Given the description of an element on the screen output the (x, y) to click on. 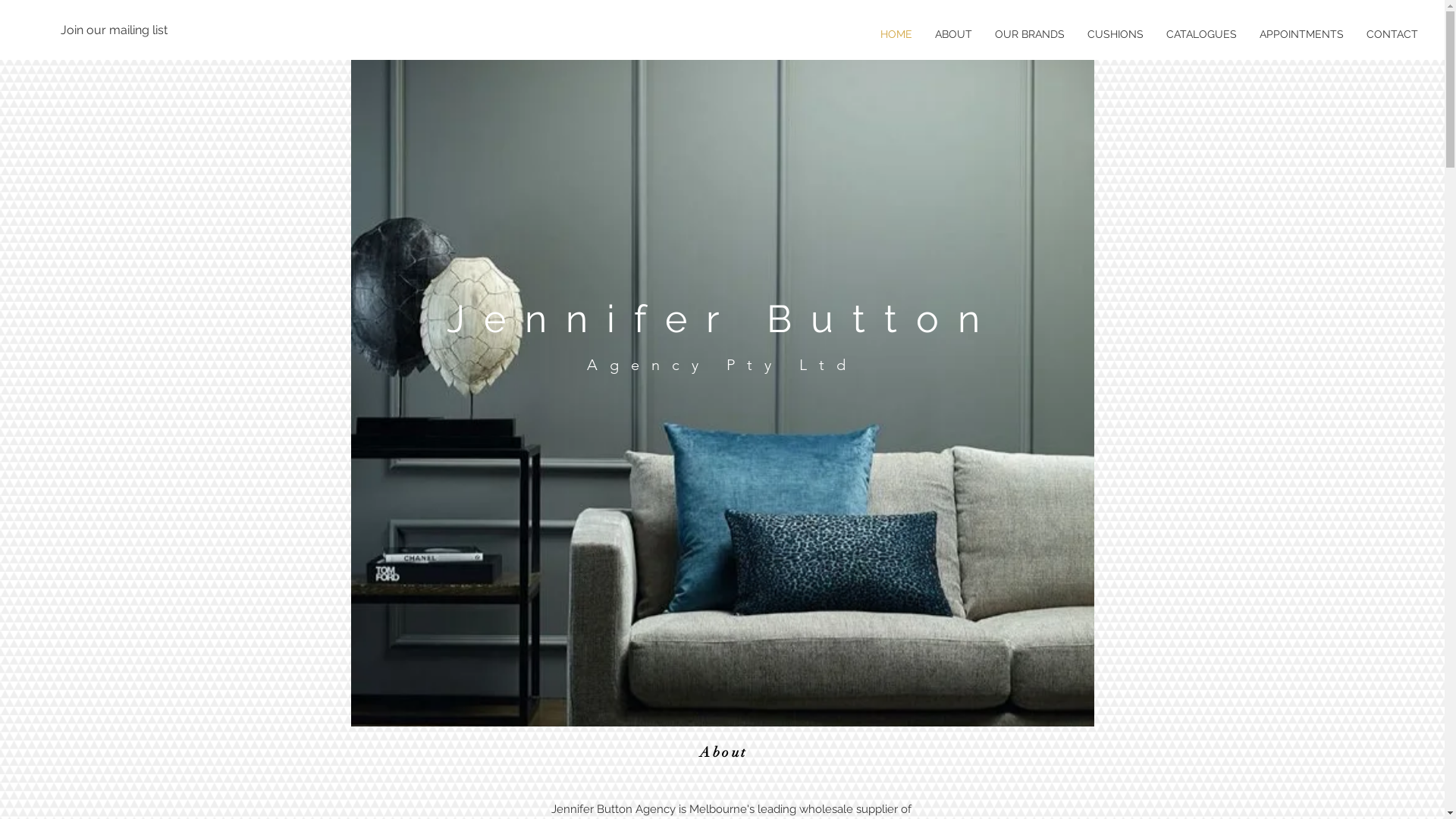
CUSHIONS Element type: text (1115, 34)
Join our mailing list Element type: text (114, 30)
HOME Element type: text (896, 34)
APPOINTMENTS Element type: text (1301, 34)
ABOUT Element type: text (953, 34)
OUR BRANDS Element type: text (1029, 34)
CATALOGUES Element type: text (1201, 34)
CONTACT Element type: text (1392, 34)
